Given the description of an element on the screen output the (x, y) to click on. 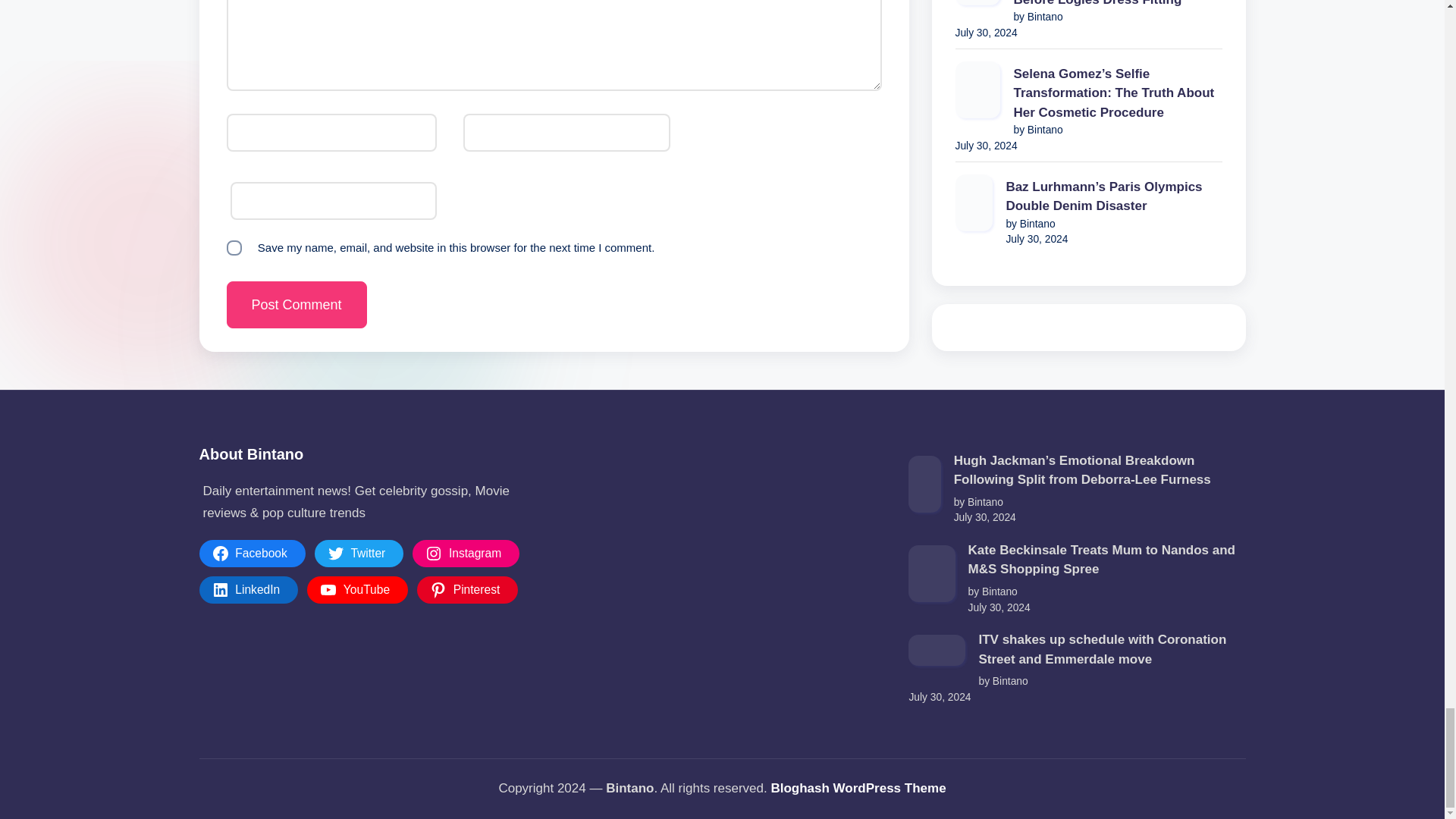
Post Comment (295, 304)
yes (233, 247)
Post Comment (295, 304)
